Given the description of an element on the screen output the (x, y) to click on. 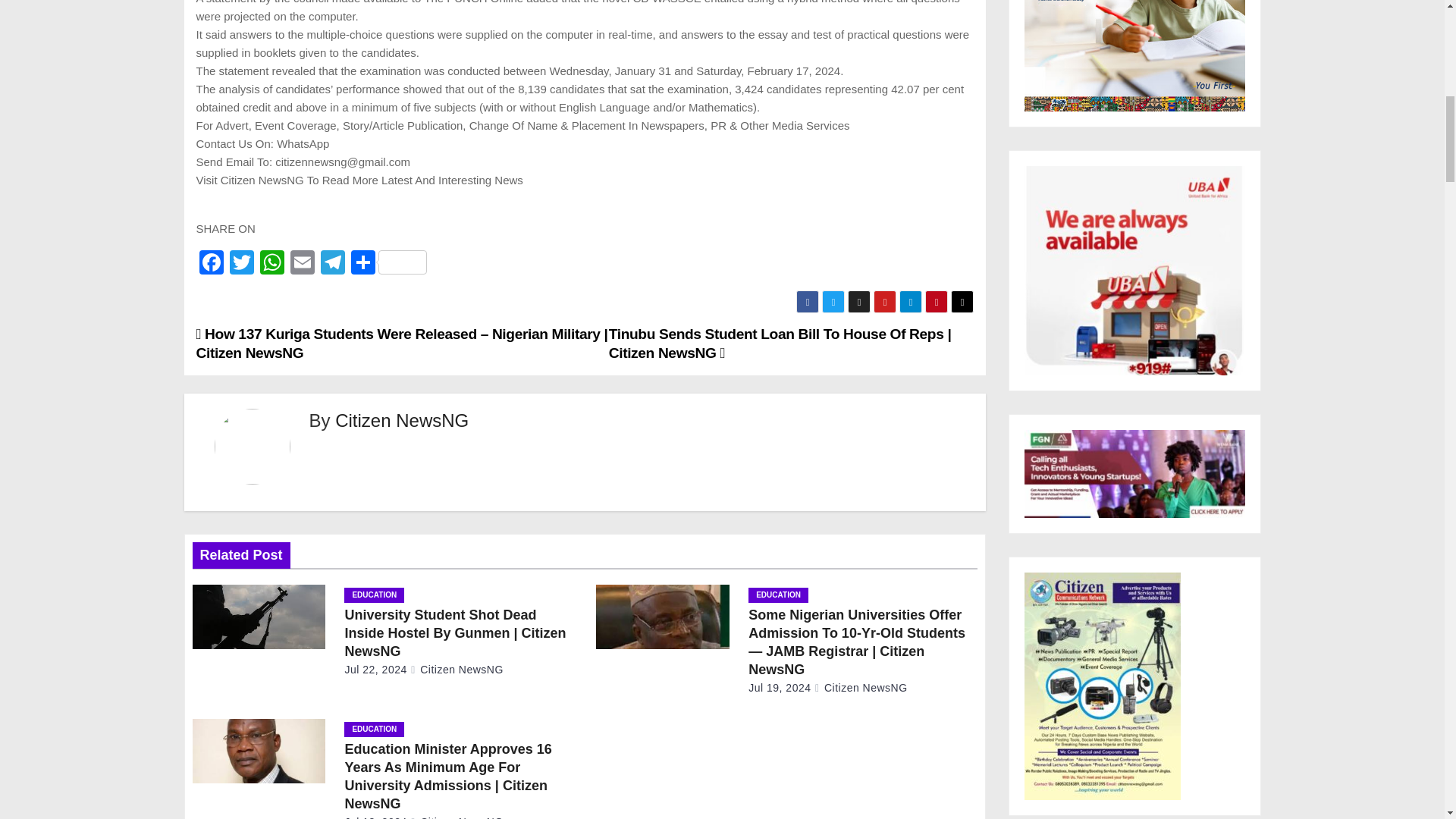
Twitter (240, 264)
Email (301, 264)
Facebook (210, 264)
WhatsApp (271, 264)
Facebook (210, 264)
